Given the description of an element on the screen output the (x, y) to click on. 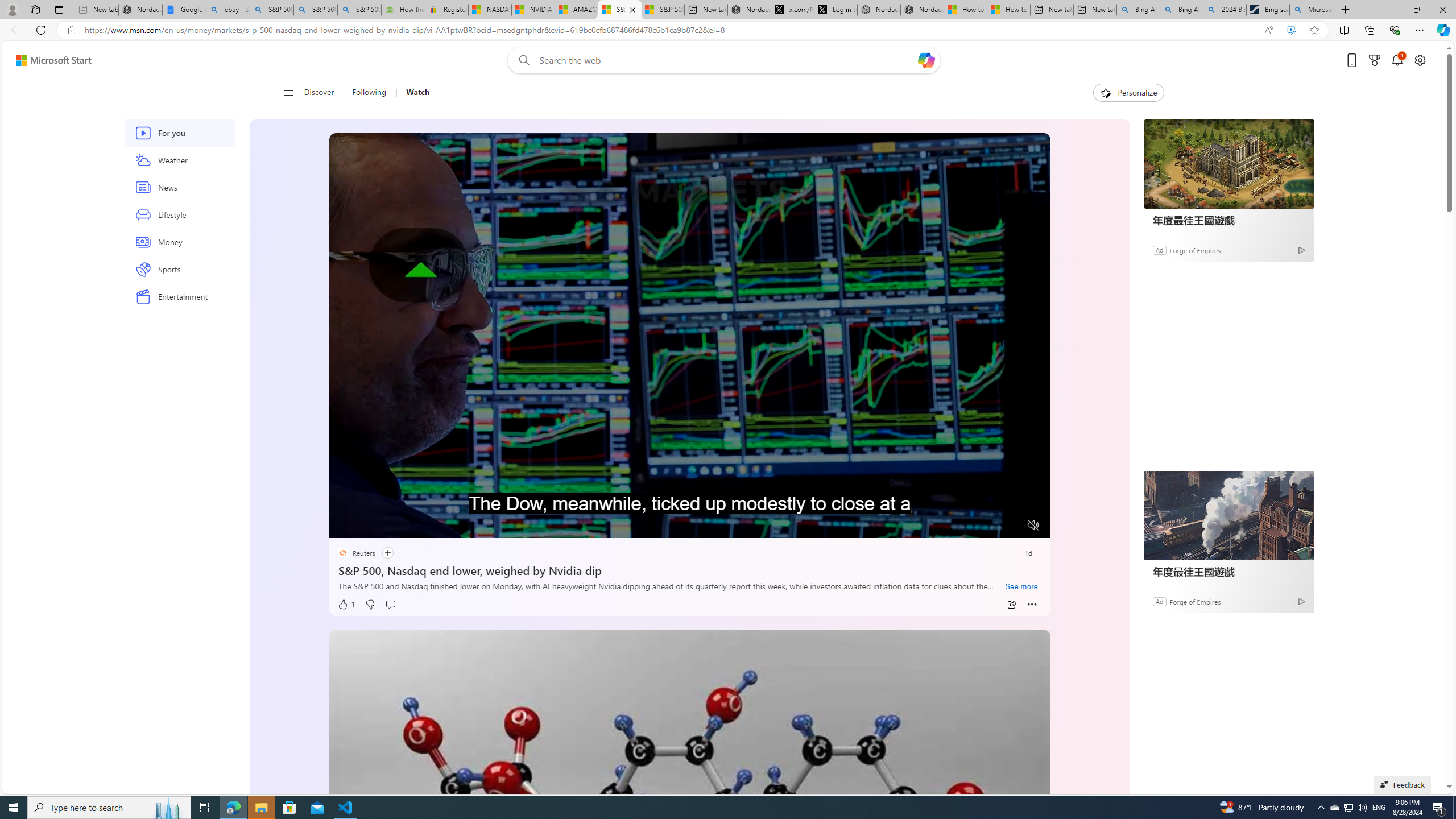
More (1031, 604)
